Given the description of an element on the screen output the (x, y) to click on. 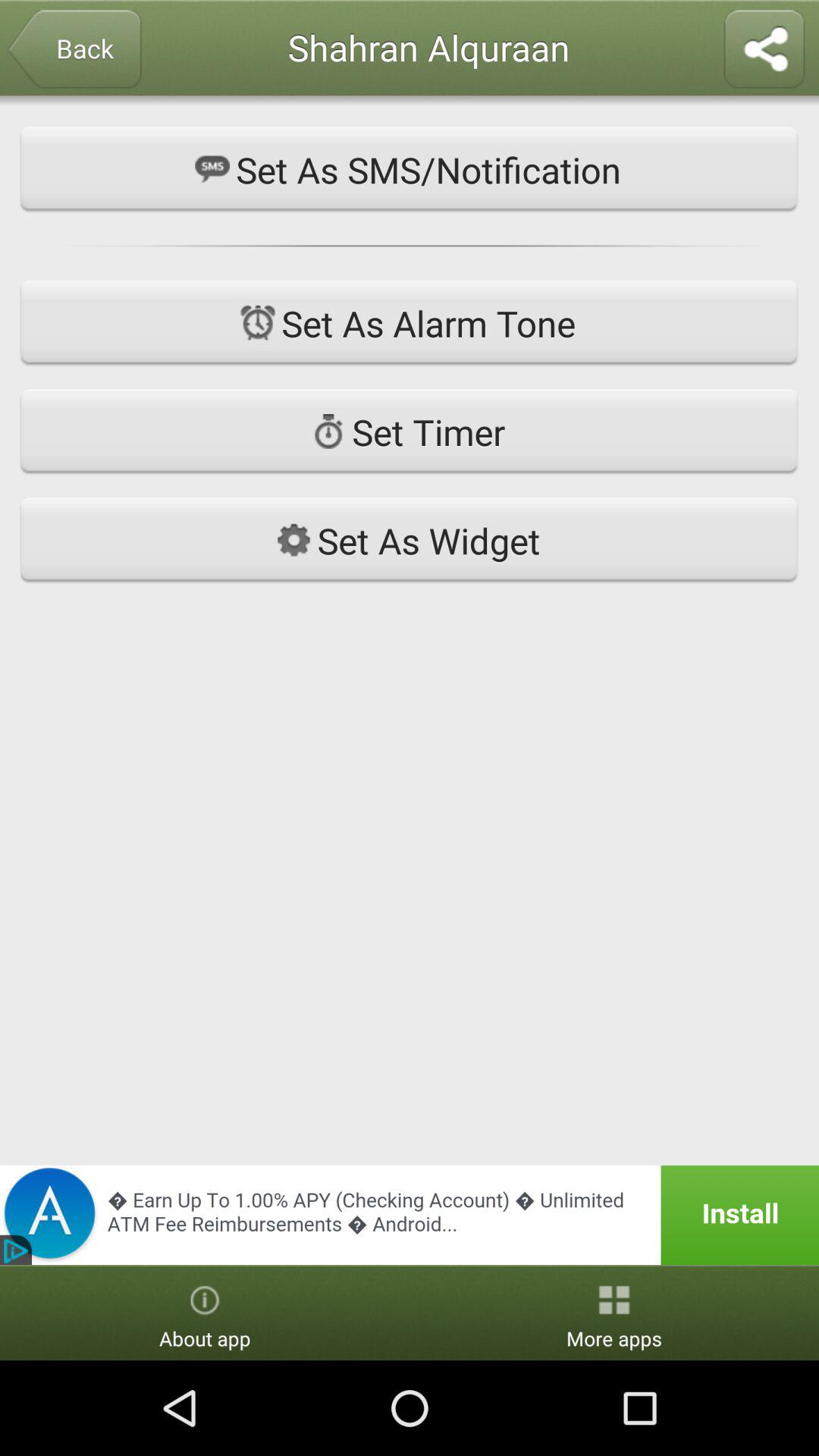
press baanner for advert (409, 1214)
